Given the description of an element on the screen output the (x, y) to click on. 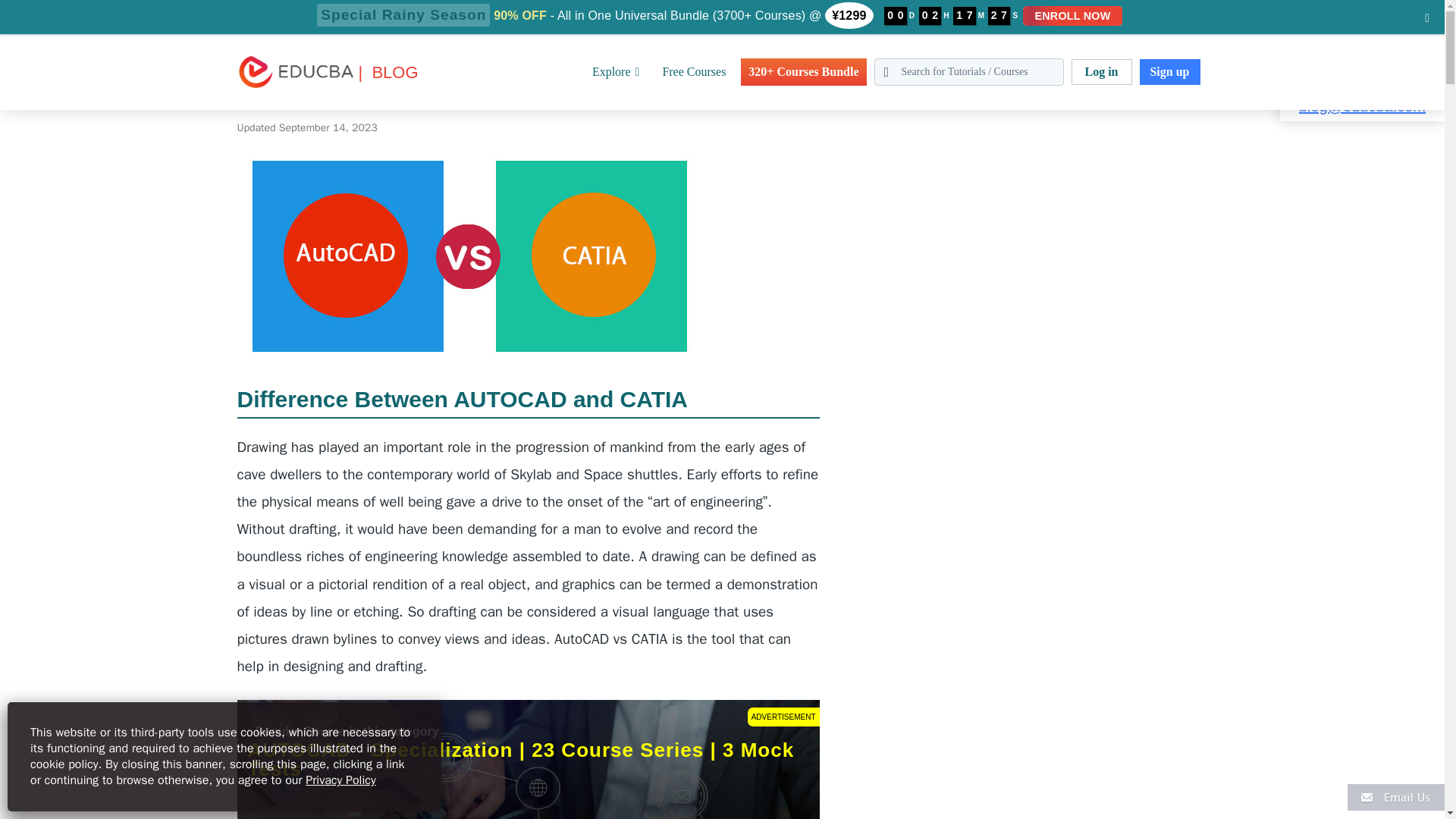
Explore (616, 72)
Design - Key Differences Tutorial (251, 9)
Design (56, 9)
Home (13, 9)
Search (43, 19)
Design Tutorials (124, 9)
Free Courses (693, 72)
Log in (1100, 71)
Sign up (1168, 71)
EDUCBA (259, 96)
